Given the description of an element on the screen output the (x, y) to click on. 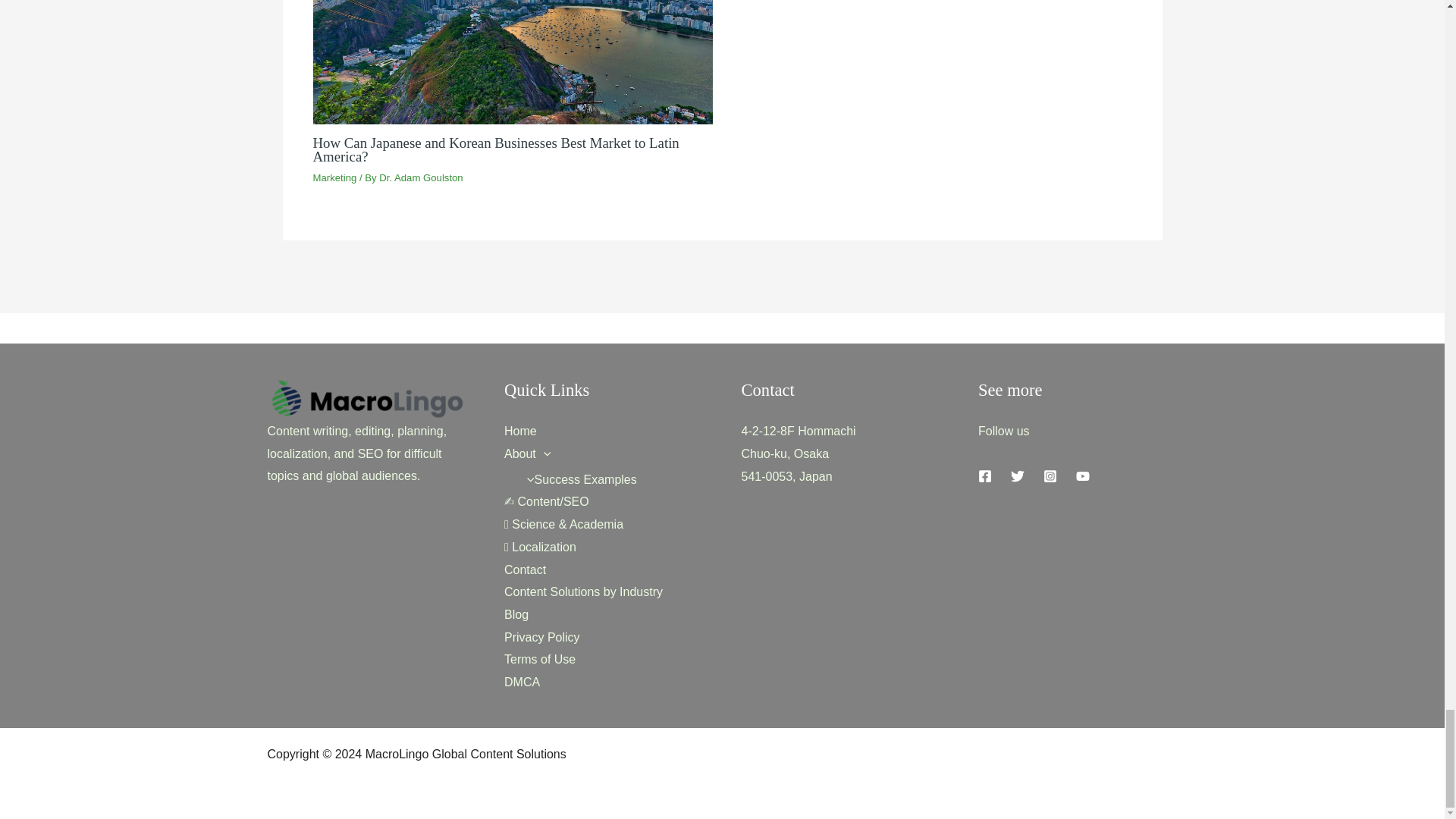
Marketing (334, 177)
View all posts by Dr. Adam Goulston (420, 177)
